Given the description of an element on the screen output the (x, y) to click on. 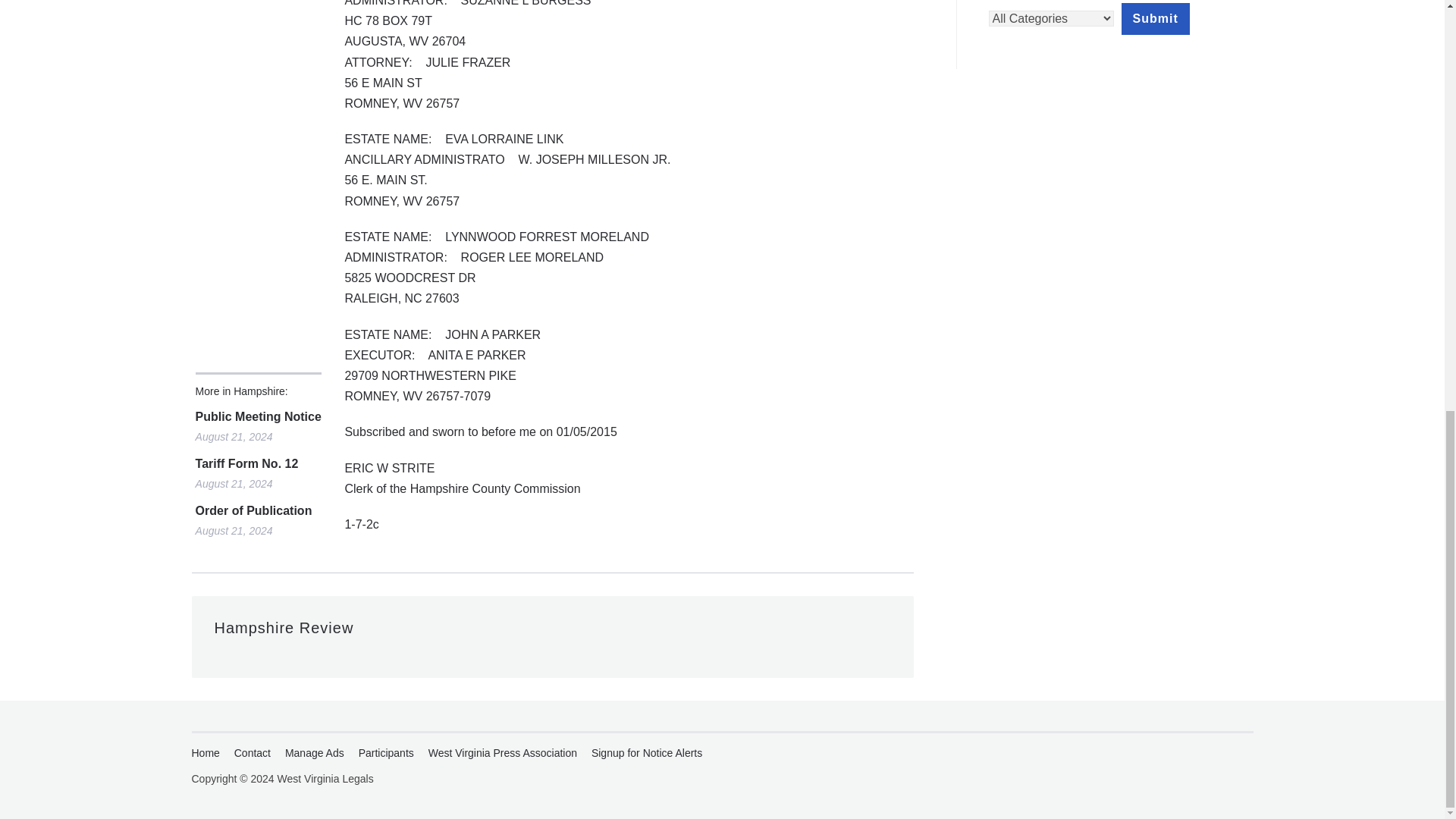
Order of Publication (258, 510)
Submit (1155, 19)
Hampshire Review (283, 627)
Tariff Form No. 12 (258, 463)
Permalink to Tariff Form No. 12 (258, 463)
Permalink to Public Meeting Notice (258, 416)
Posts by Hampshire Review (283, 627)
Permalink to Order of Publication (258, 510)
Public Meeting Notice (258, 416)
